Given the description of an element on the screen output the (x, y) to click on. 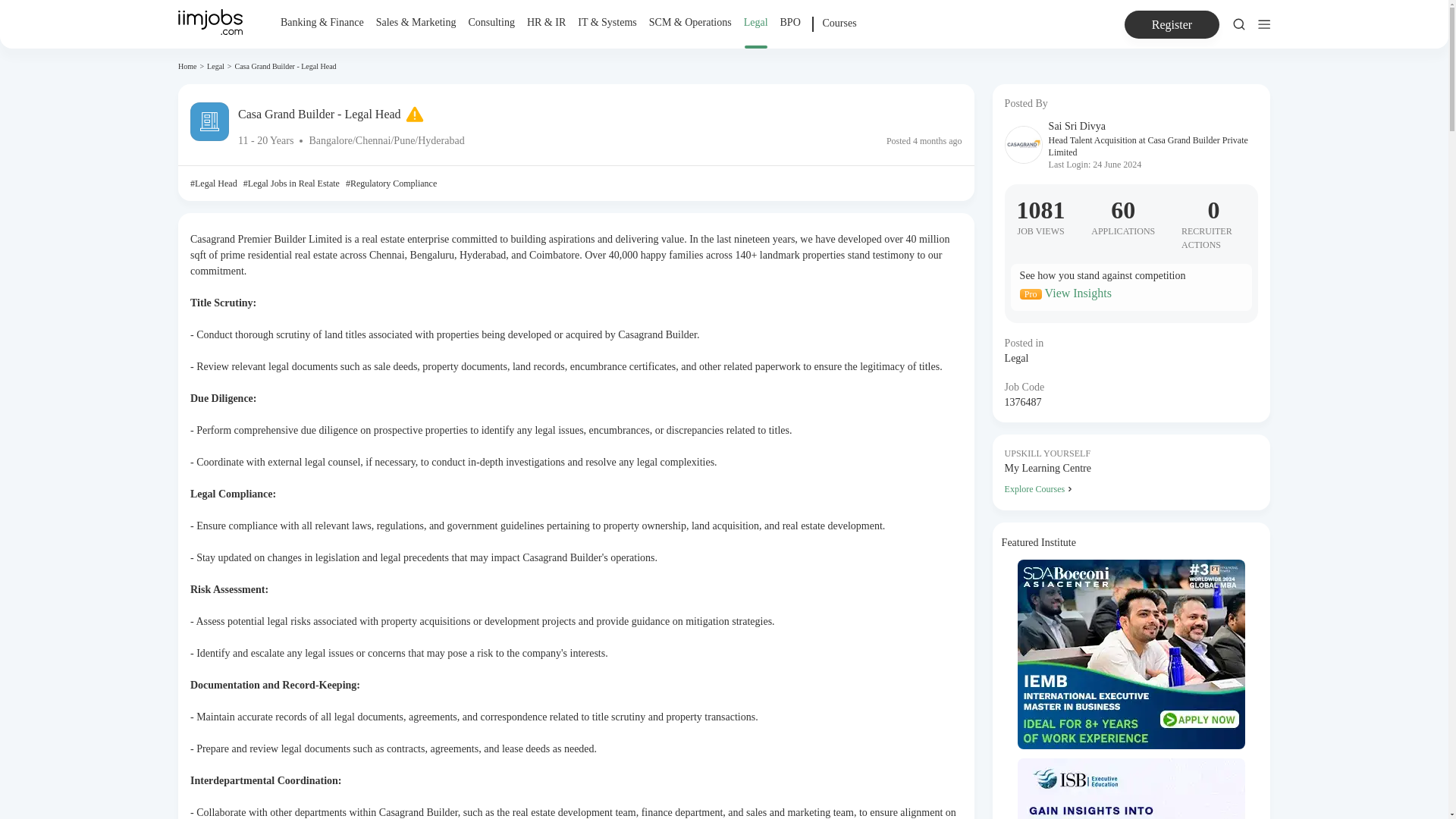
Register (1172, 24)
Home (186, 66)
Consulting (490, 31)
Legal (215, 66)
Courses (839, 31)
Consulting (490, 22)
